Given the description of an element on the screen output the (x, y) to click on. 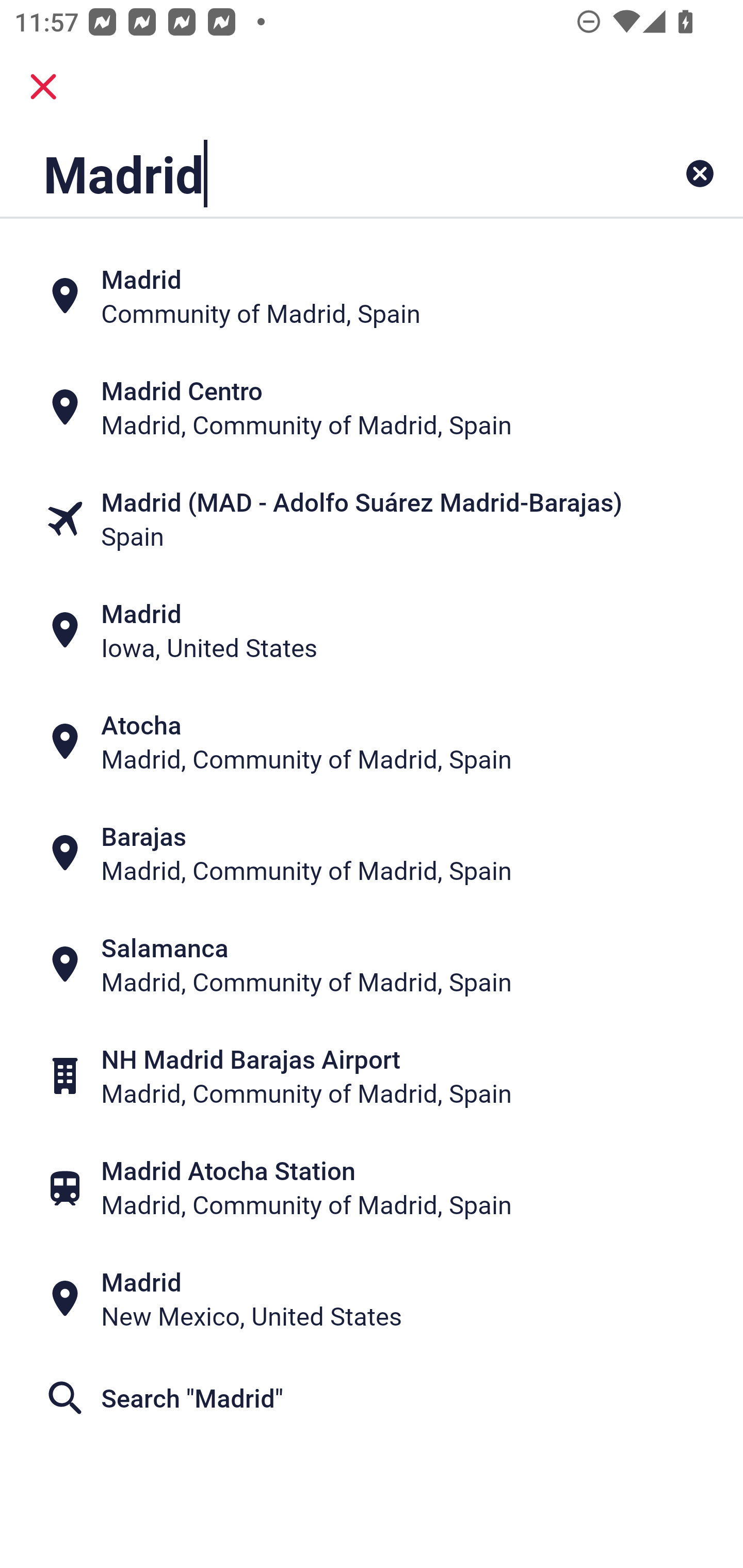
close. (43, 86)
Clear (699, 173)
Madrid (306, 173)
Madrid Community of Madrid, Spain (371, 295)
Madrid Centro Madrid, Community of Madrid, Spain (371, 406)
Madrid (MAD - Adolfo Suárez Madrid-Barajas) Spain (371, 517)
Madrid Iowa, United States (371, 629)
Atocha Madrid, Community of Madrid, Spain (371, 742)
Barajas Madrid, Community of Madrid, Spain (371, 853)
Salamanca Madrid, Community of Madrid, Spain (371, 964)
Madrid New Mexico, United States (371, 1298)
Search "Madrid" (371, 1397)
